Given the description of an element on the screen output the (x, y) to click on. 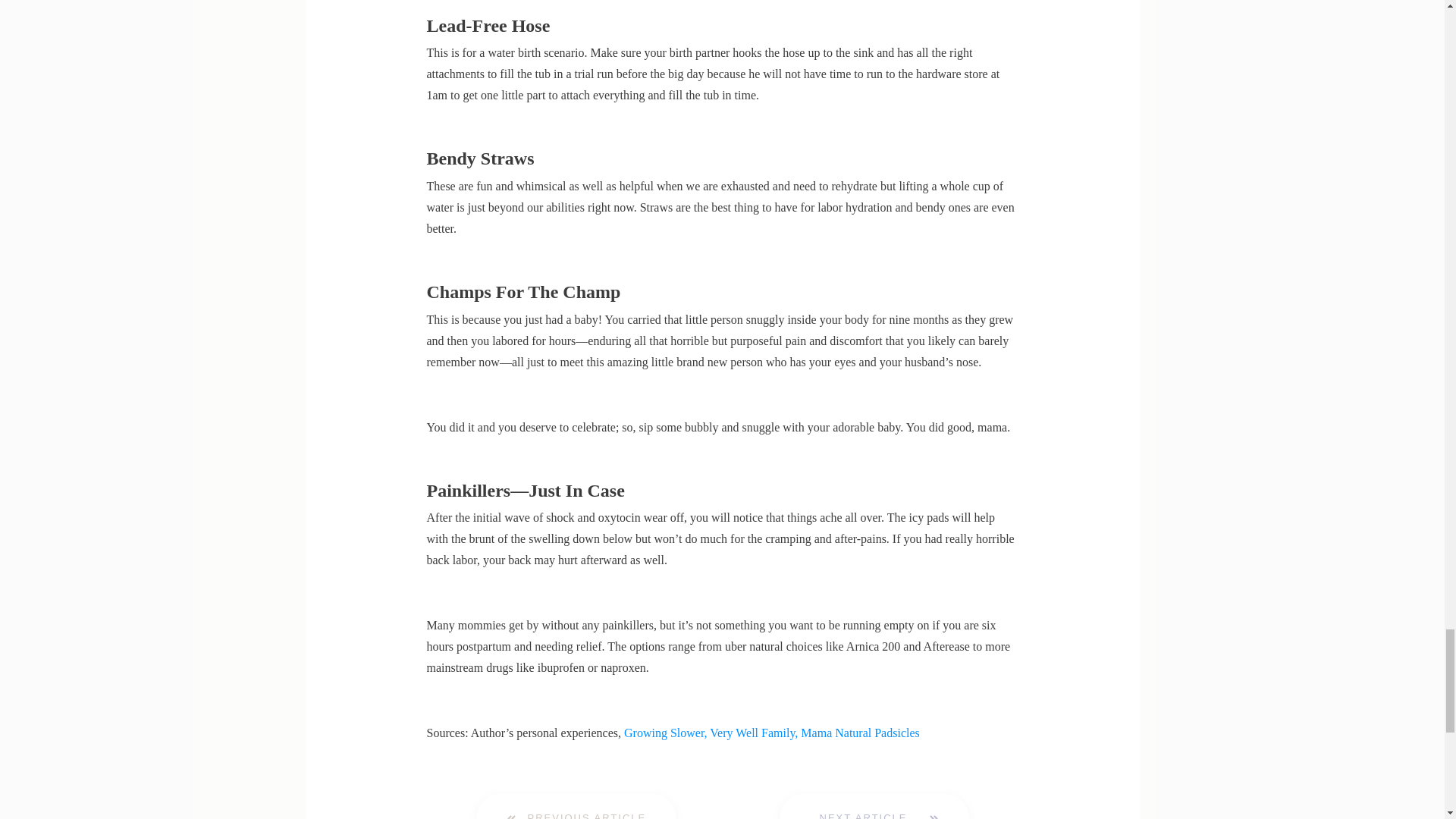
, Very Well Family (749, 732)
, Mama Natural Padsicles (856, 732)
Growing Slower (664, 732)
NEXT ARTICLE (873, 806)
PREVIOUS ARTICLE (576, 806)
